Given the description of an element on the screen output the (x, y) to click on. 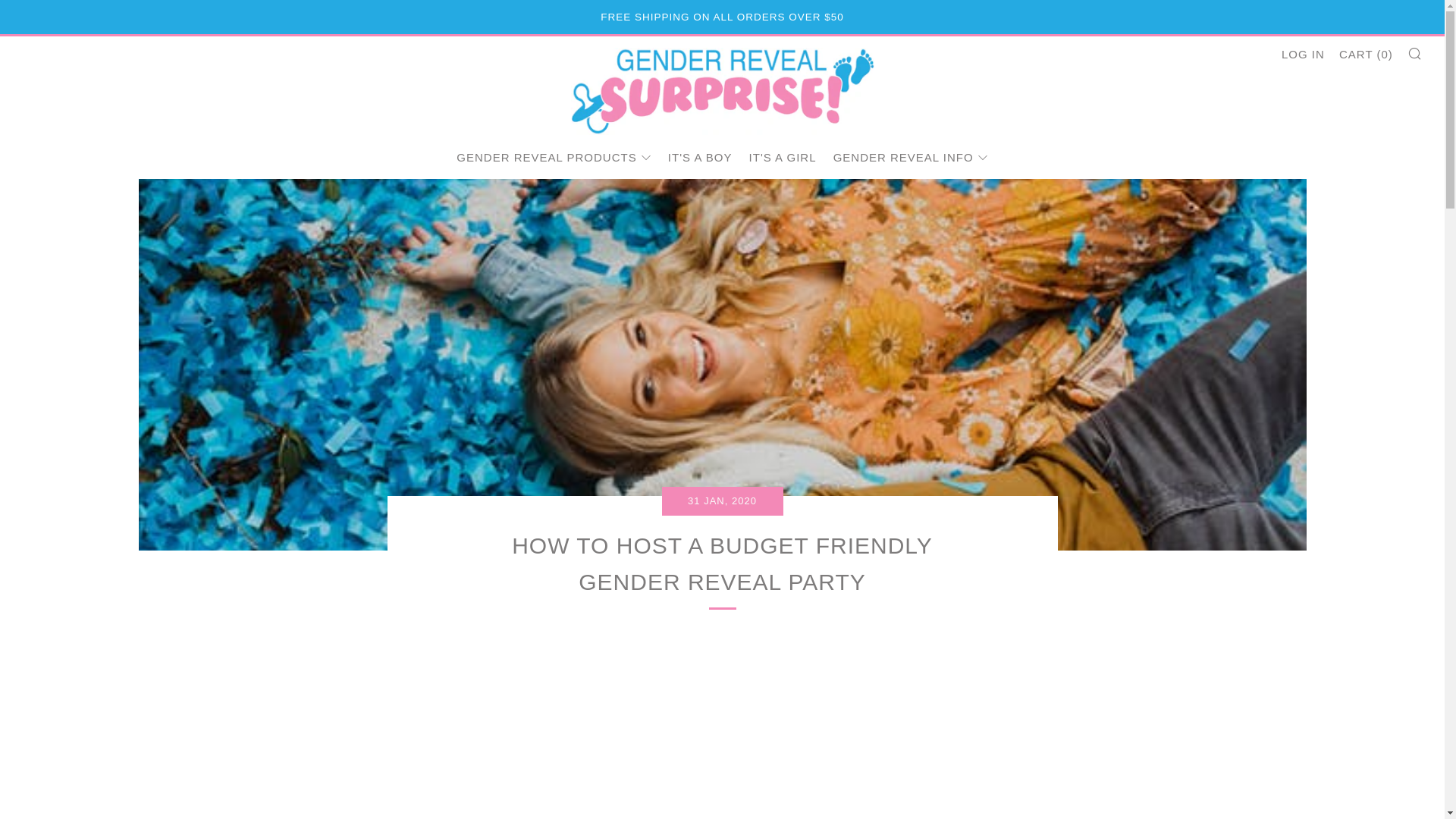
GENDER REVEAL PRODUCTS (553, 156)
